Given the description of an element on the screen output the (x, y) to click on. 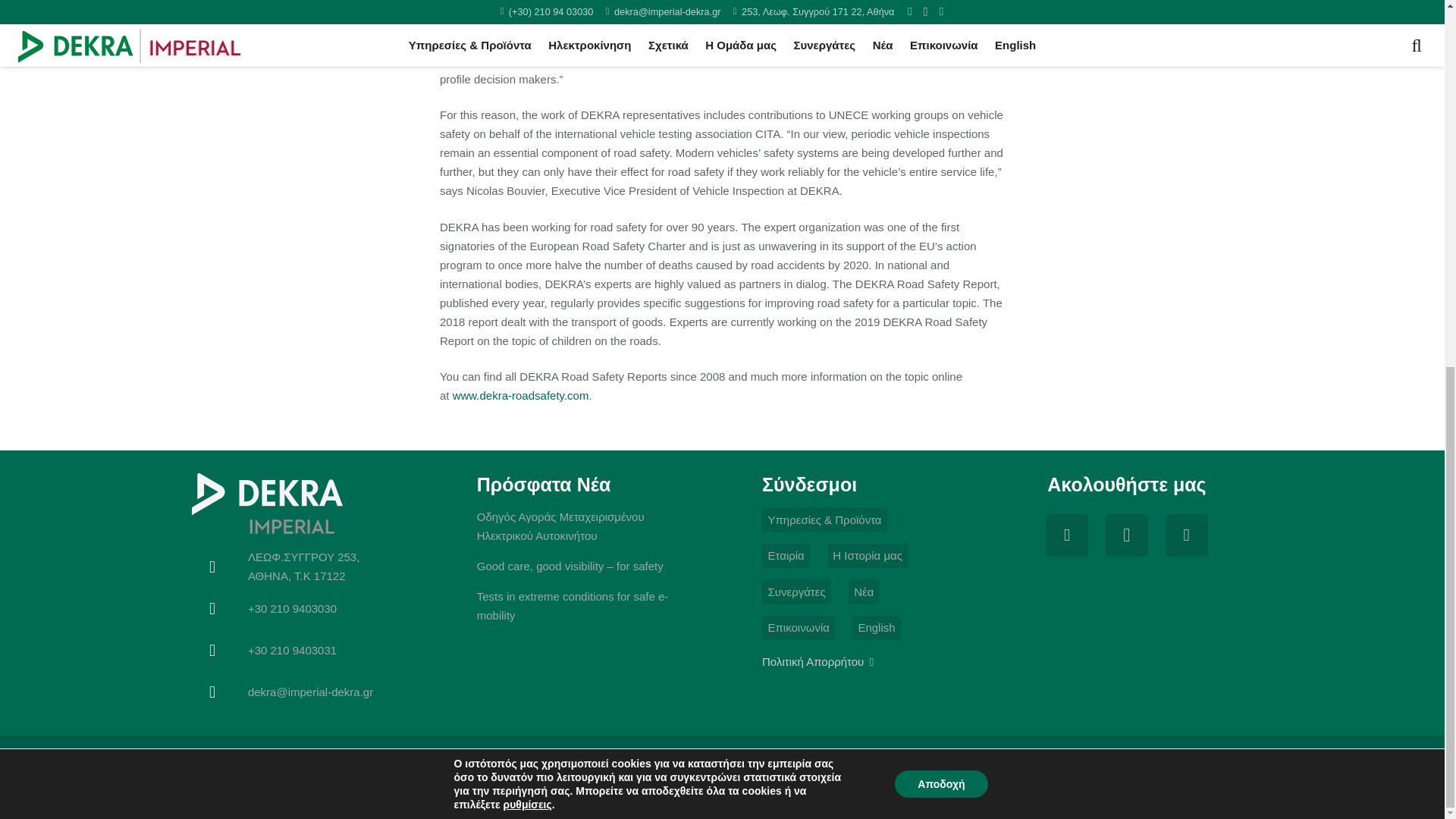
Instagram (1126, 535)
Facebook (1066, 535)
Back to top (1413, 184)
www.dekra-roadsafety.com (520, 395)
LinkedIn (1185, 535)
